Given the description of an element on the screen output the (x, y) to click on. 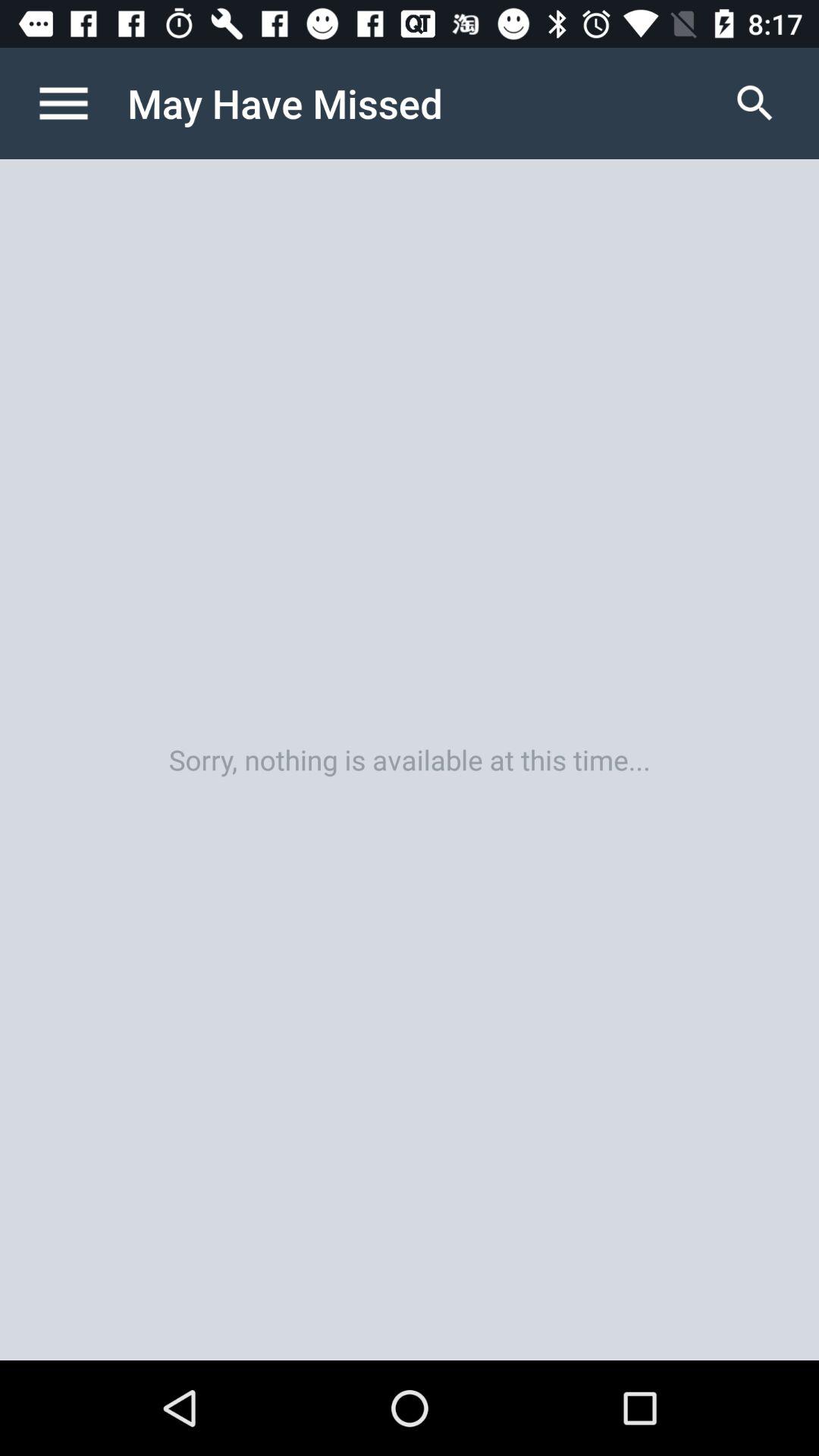
tap item to the right of the may have missed item (755, 103)
